Given the description of an element on the screen output the (x, y) to click on. 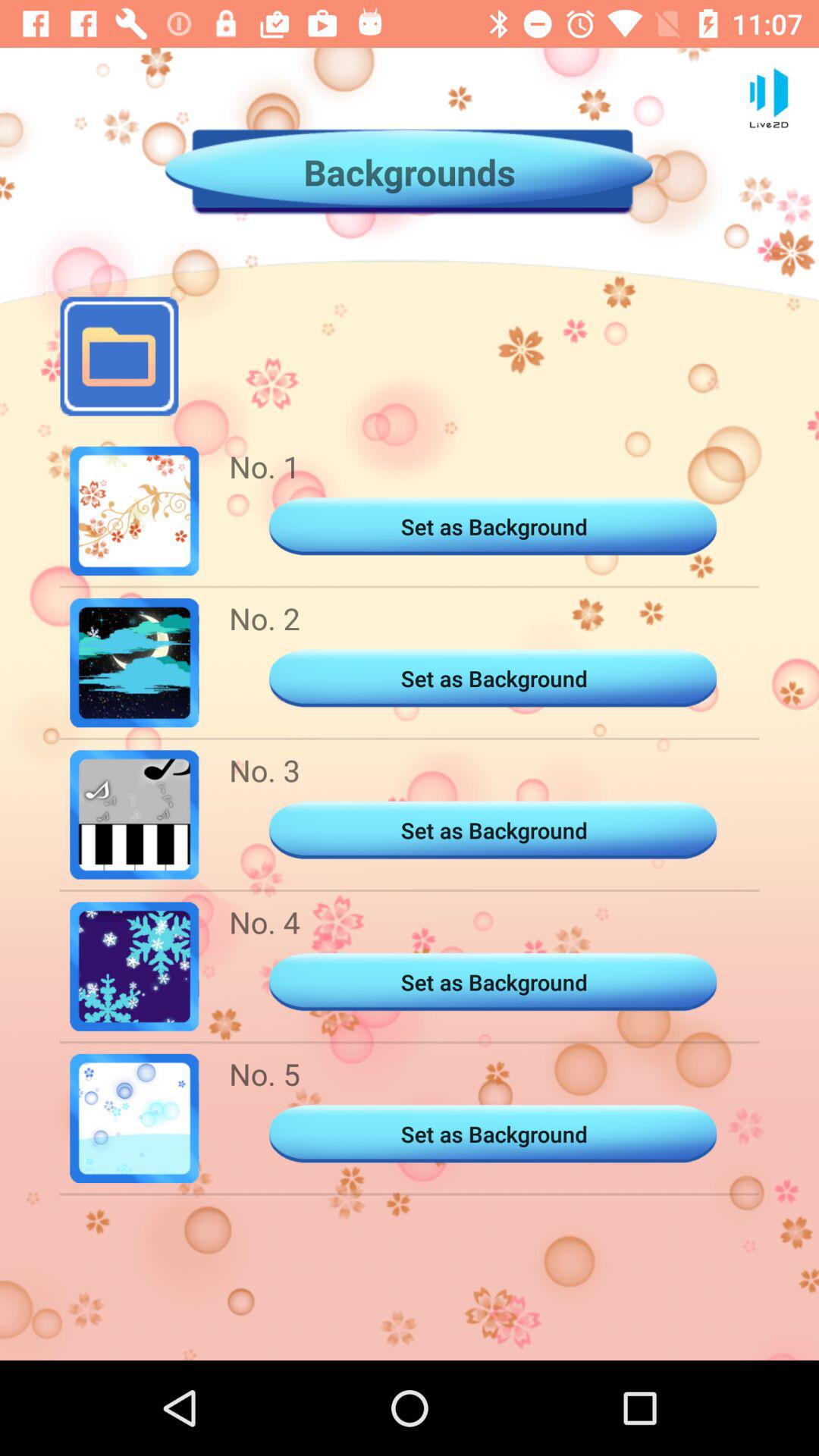
browse backgrounds (119, 356)
